Given the description of an element on the screen output the (x, y) to click on. 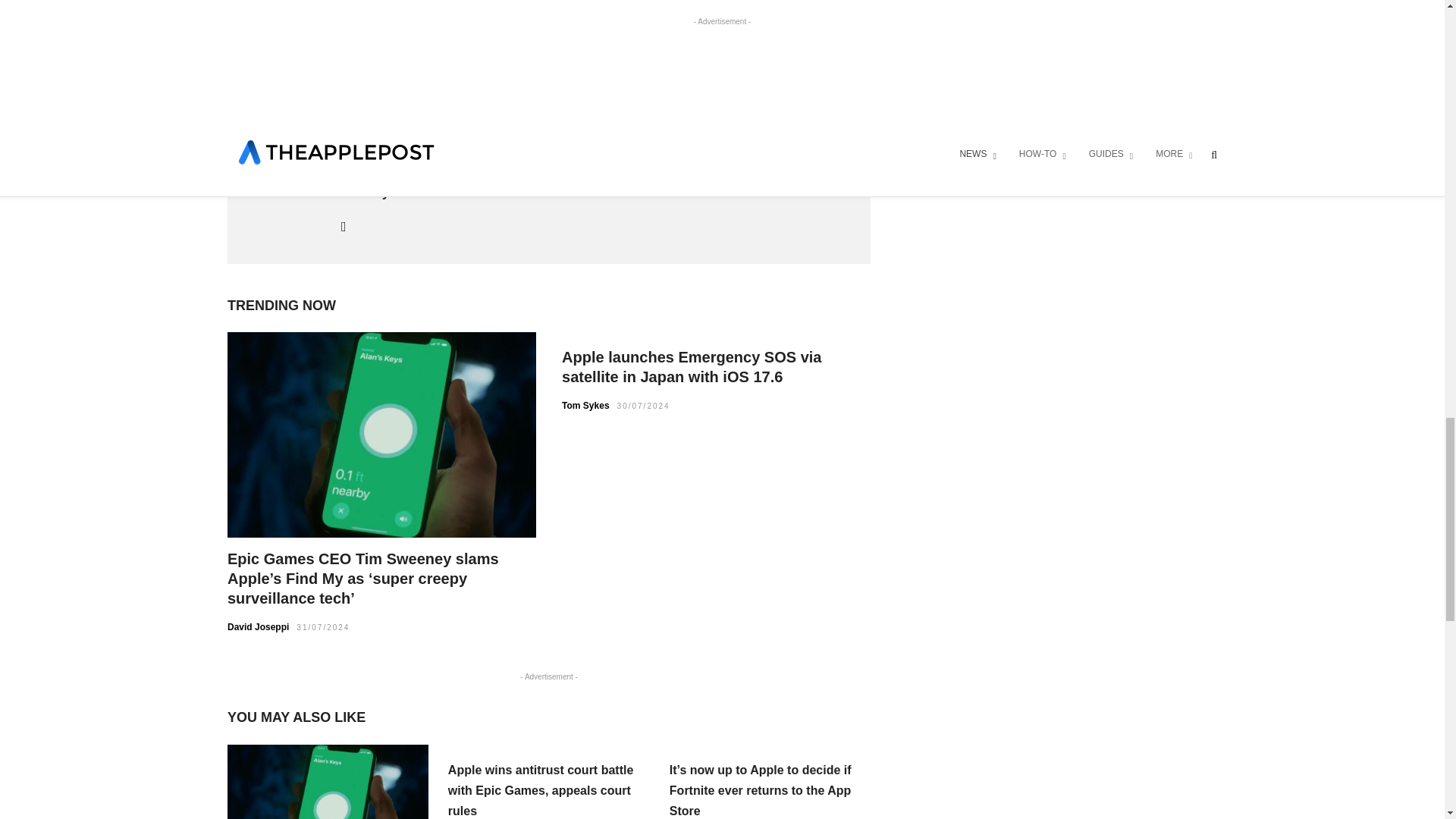
September 10, 2021 (691, 14)
